Given the description of an element on the screen output the (x, y) to click on. 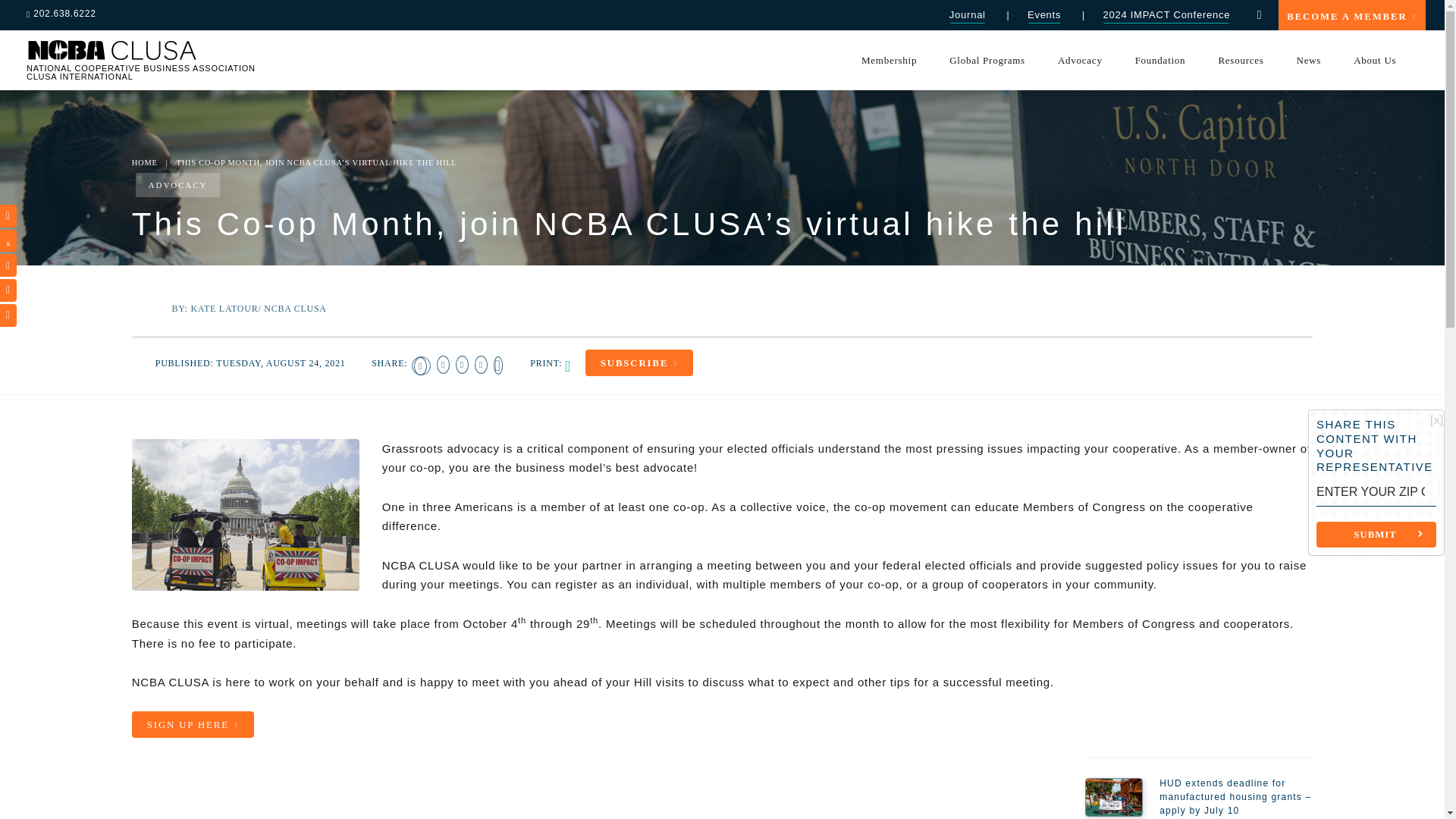
Global Programs (987, 59)
Events (1043, 15)
2024 IMPACT Conference (1165, 15)
Advocacy (1079, 59)
Submit (1375, 534)
BECOME A MEMBER (1351, 15)
202.638.6222 (66, 14)
Journal (967, 15)
Membership (888, 59)
